Given the description of an element on the screen output the (x, y) to click on. 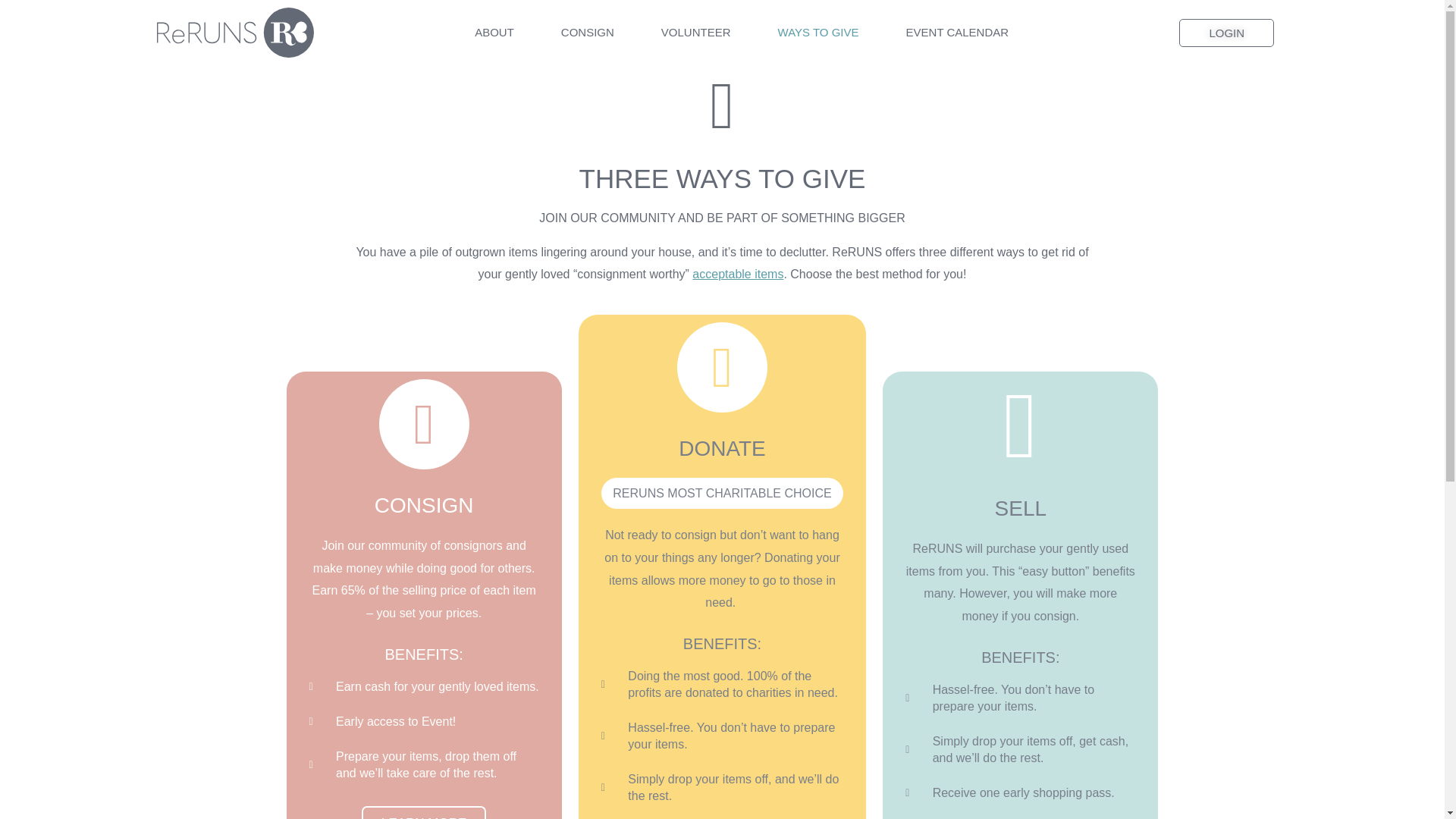
acceptable items (738, 353)
CONSIGN (587, 32)
LOGIN (1226, 32)
VOLUNTEER (695, 32)
WAYS TO GIVE (818, 32)
ABOUT (494, 32)
EVENT CALENDAR (957, 32)
